Given the description of an element on the screen output the (x, y) to click on. 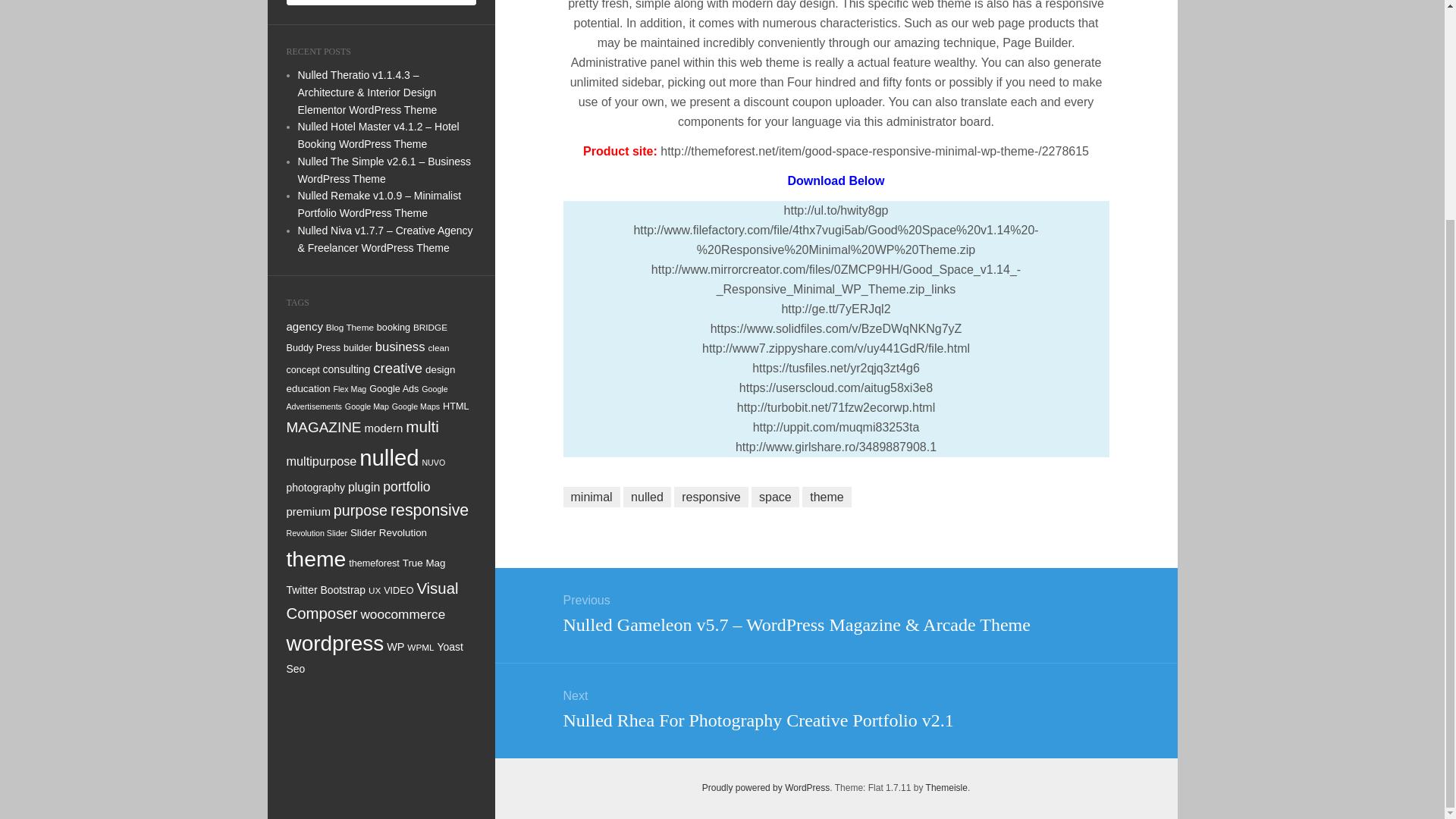
modern (383, 427)
agency (304, 326)
HTML (455, 406)
BRIDGE (429, 327)
Semantic Personal Publishing Platform (765, 787)
concept (303, 369)
Google Maps (415, 406)
Buddy Press (313, 347)
consulting (347, 369)
Google Ads (394, 388)
photography (316, 487)
business (400, 346)
Google Map (366, 406)
clean (438, 347)
design (439, 369)
